Given the description of an element on the screen output the (x, y) to click on. 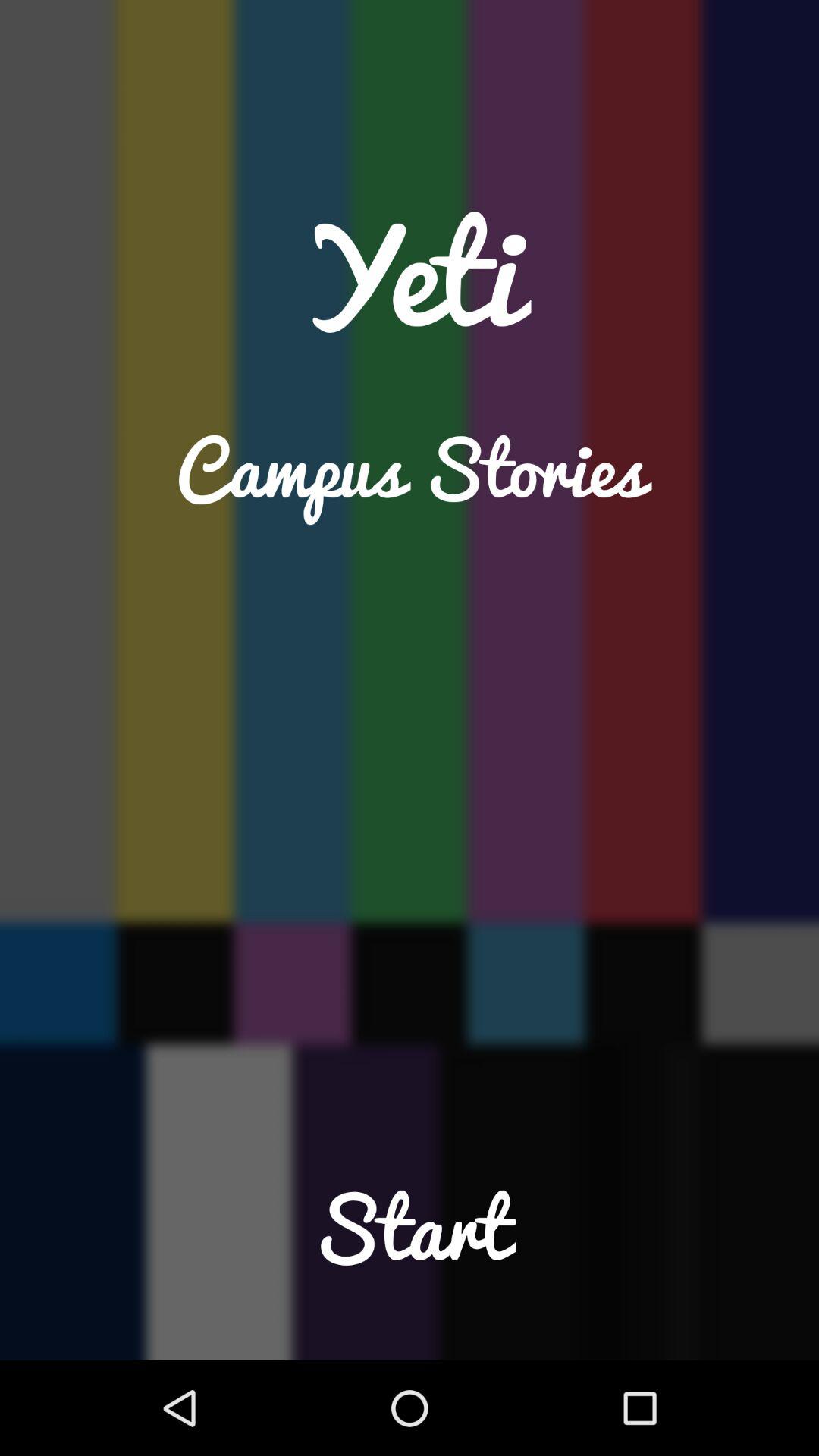
turn off icon below the campus stories item (409, 1259)
